Given the description of an element on the screen output the (x, y) to click on. 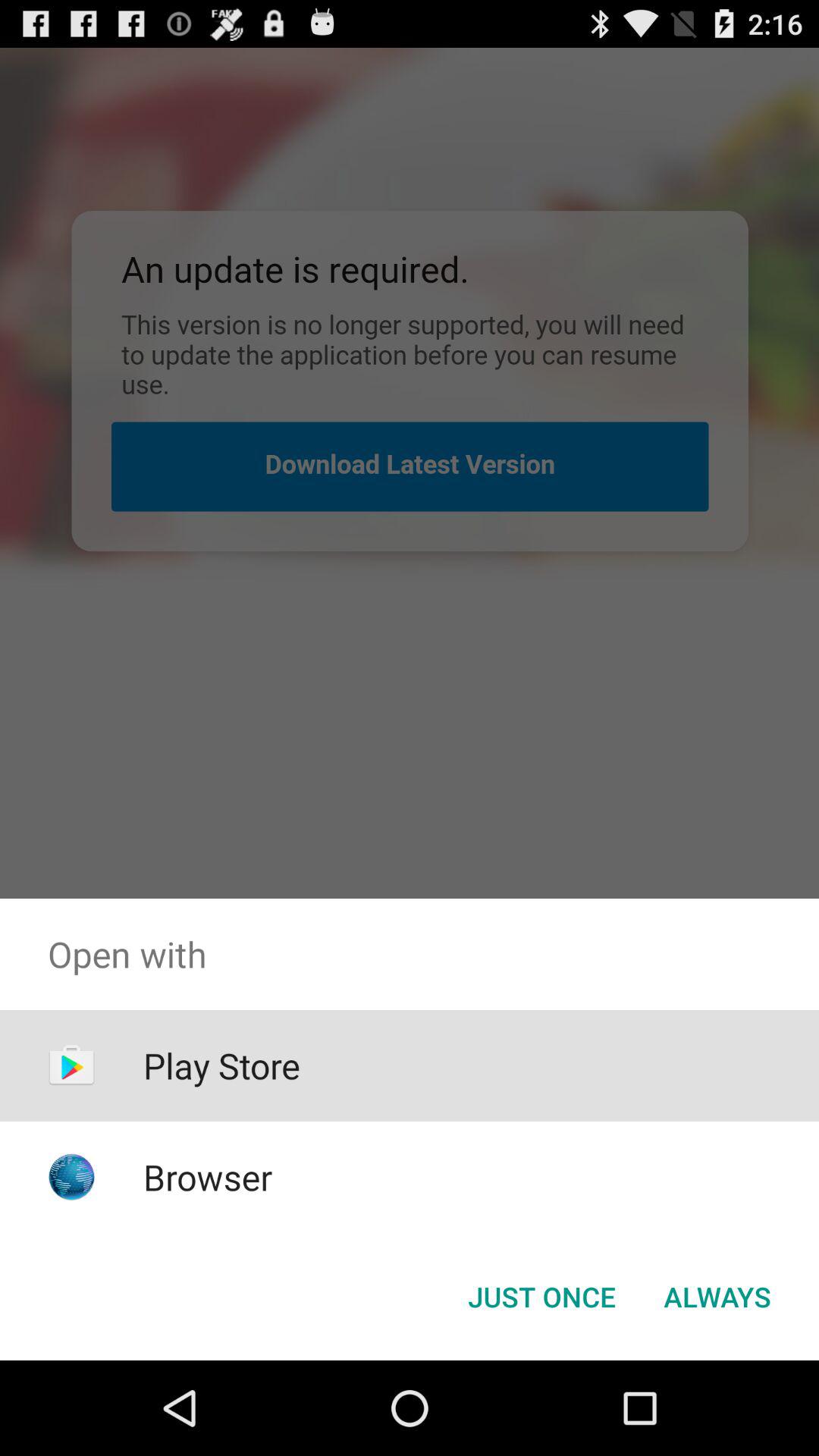
open the app below the open with item (541, 1296)
